Given the description of an element on the screen output the (x, y) to click on. 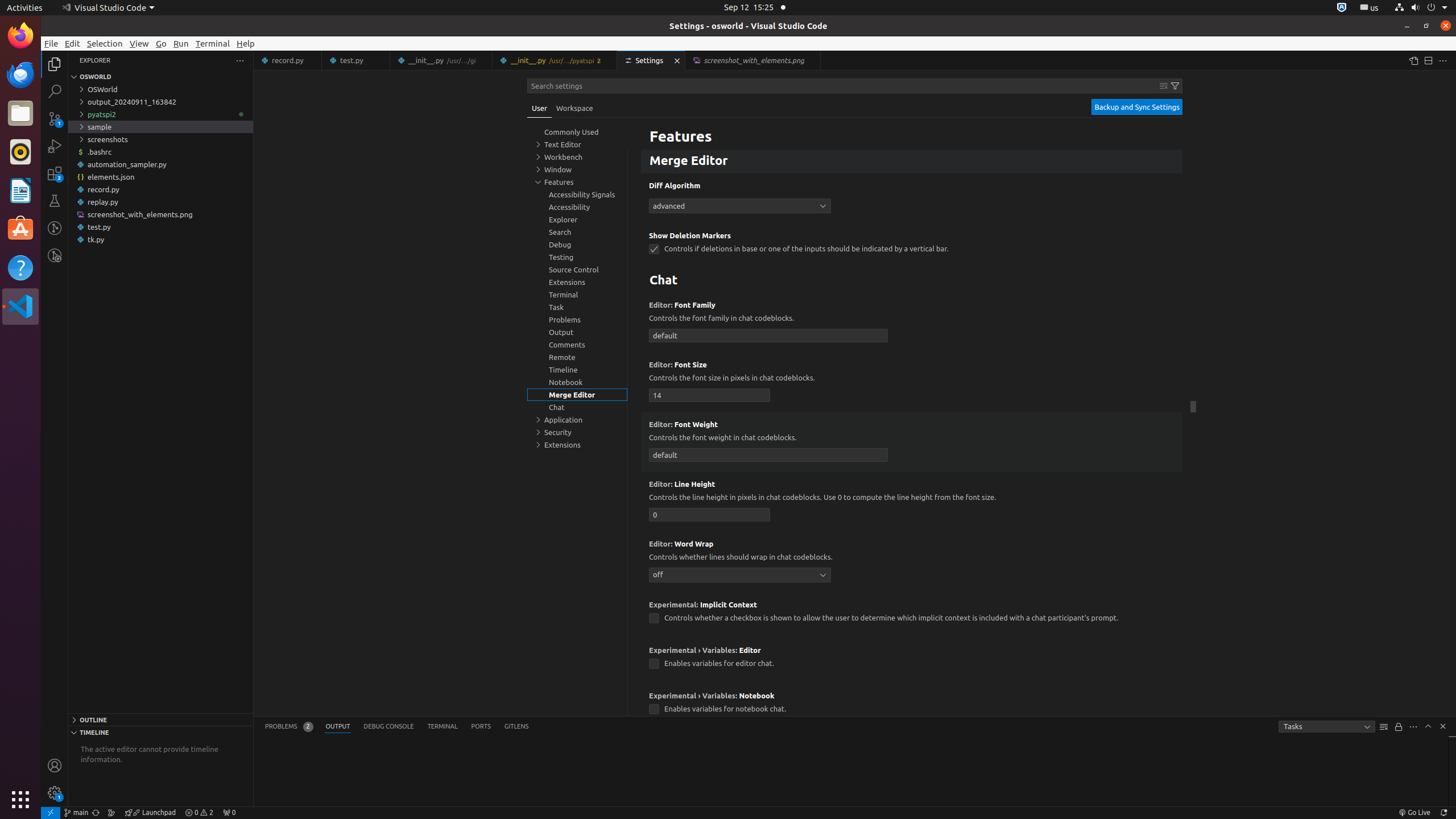
Merge Editor, group Element type: tree-item (577, 394)
No Ports Forwarded Element type: push-button (228, 812)
Search, group Element type: tree-item (577, 231)
More Actions... Element type: push-button (1442, 60)
Selection Element type: push-button (104, 43)
